Given the description of an element on the screen output the (x, y) to click on. 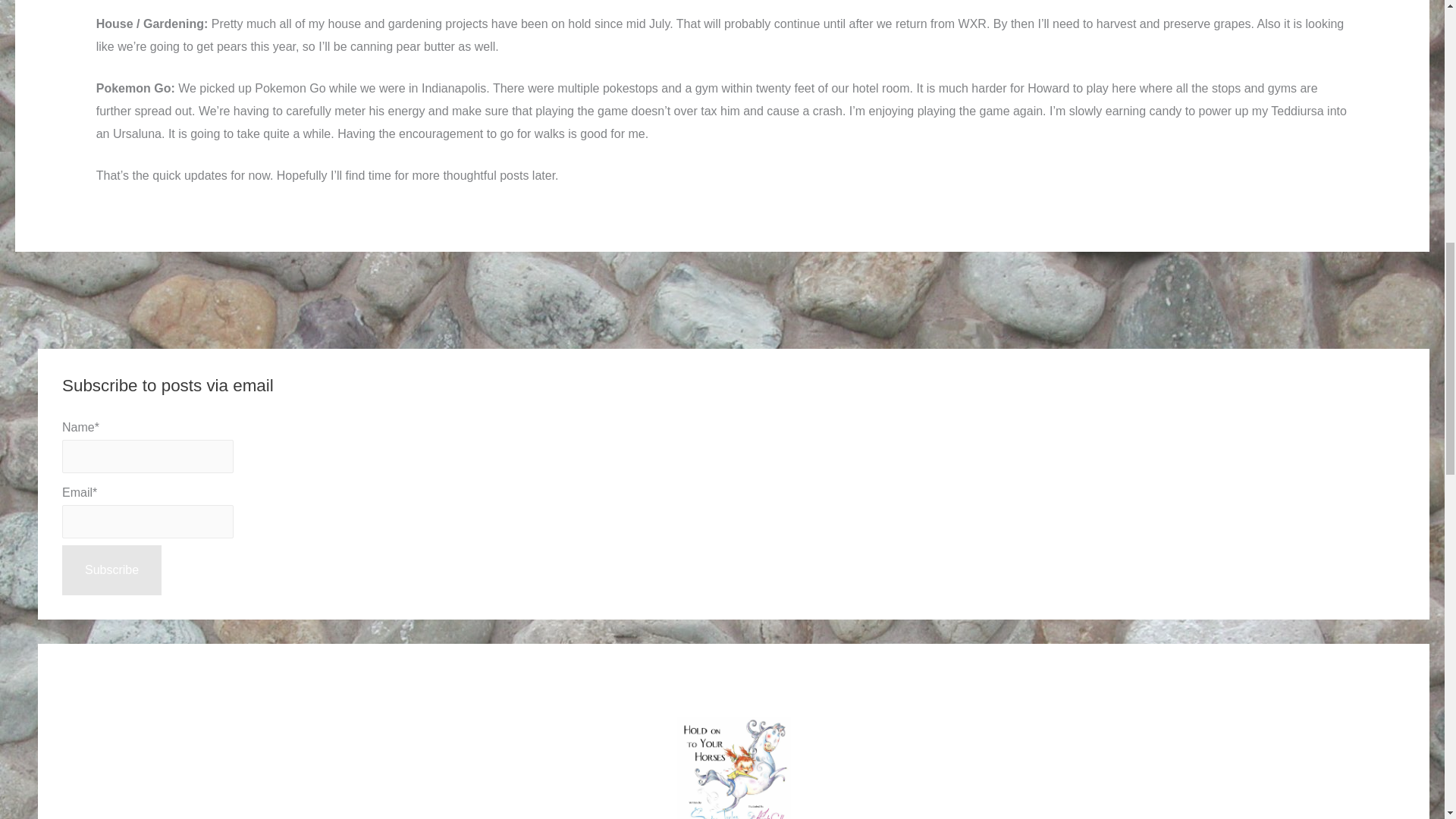
Subscribe (111, 570)
Subscribe (111, 570)
Front Cover web (733, 767)
